Given the description of an element on the screen output the (x, y) to click on. 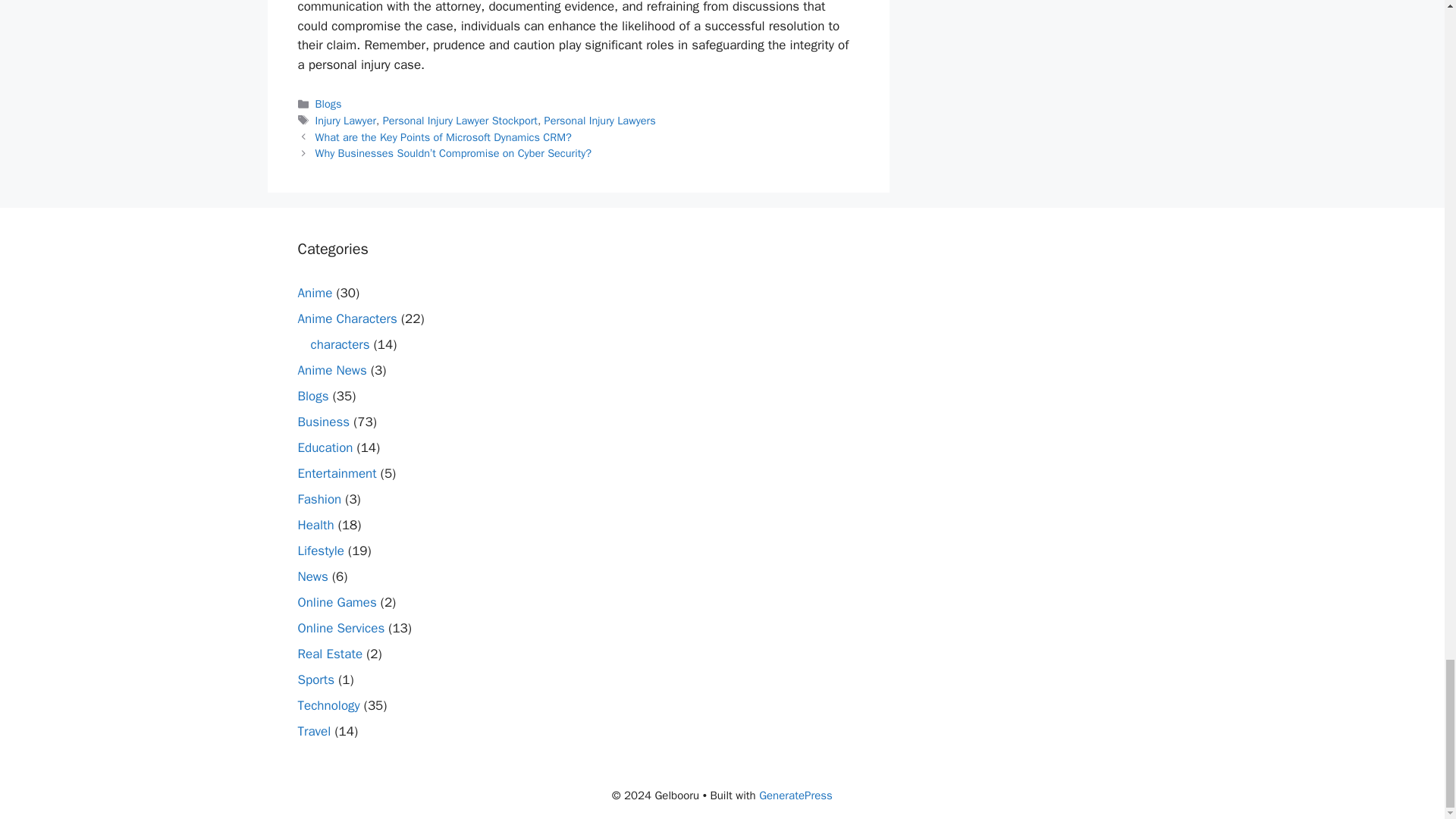
What are the Key Points of Microsoft Dynamics CRM? (443, 137)
Injury Lawyer (345, 120)
Blogs (328, 103)
Personal Injury Lawyers (600, 120)
Personal Injury Lawyer Stockport (459, 120)
